Given the description of an element on the screen output the (x, y) to click on. 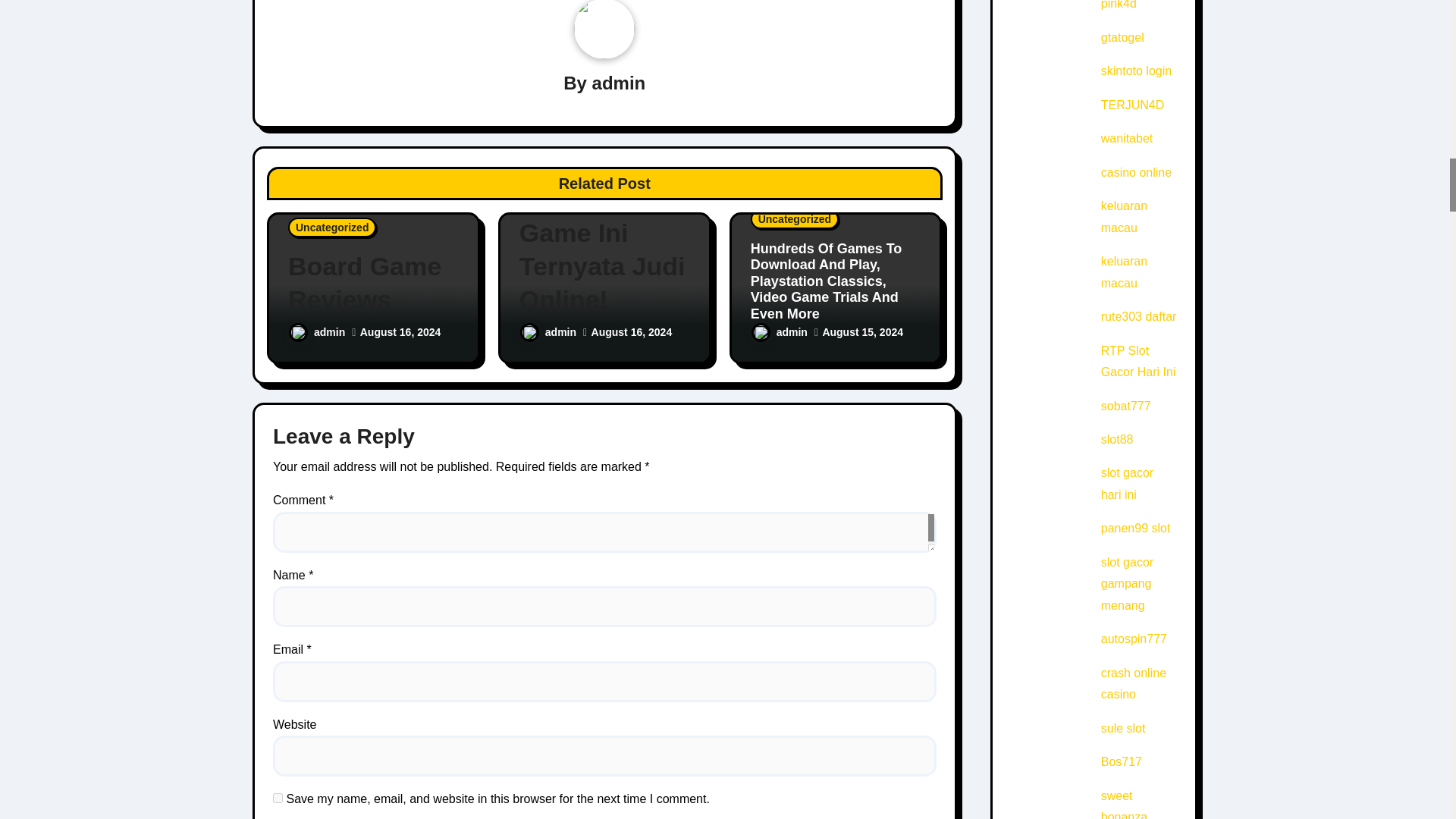
Permalink to: Board Game Reviews (373, 282)
Permalink to: Awas, 15 Game Ini Ternyata Judi Online! (604, 249)
yes (277, 798)
